Given the description of an element on the screen output the (x, y) to click on. 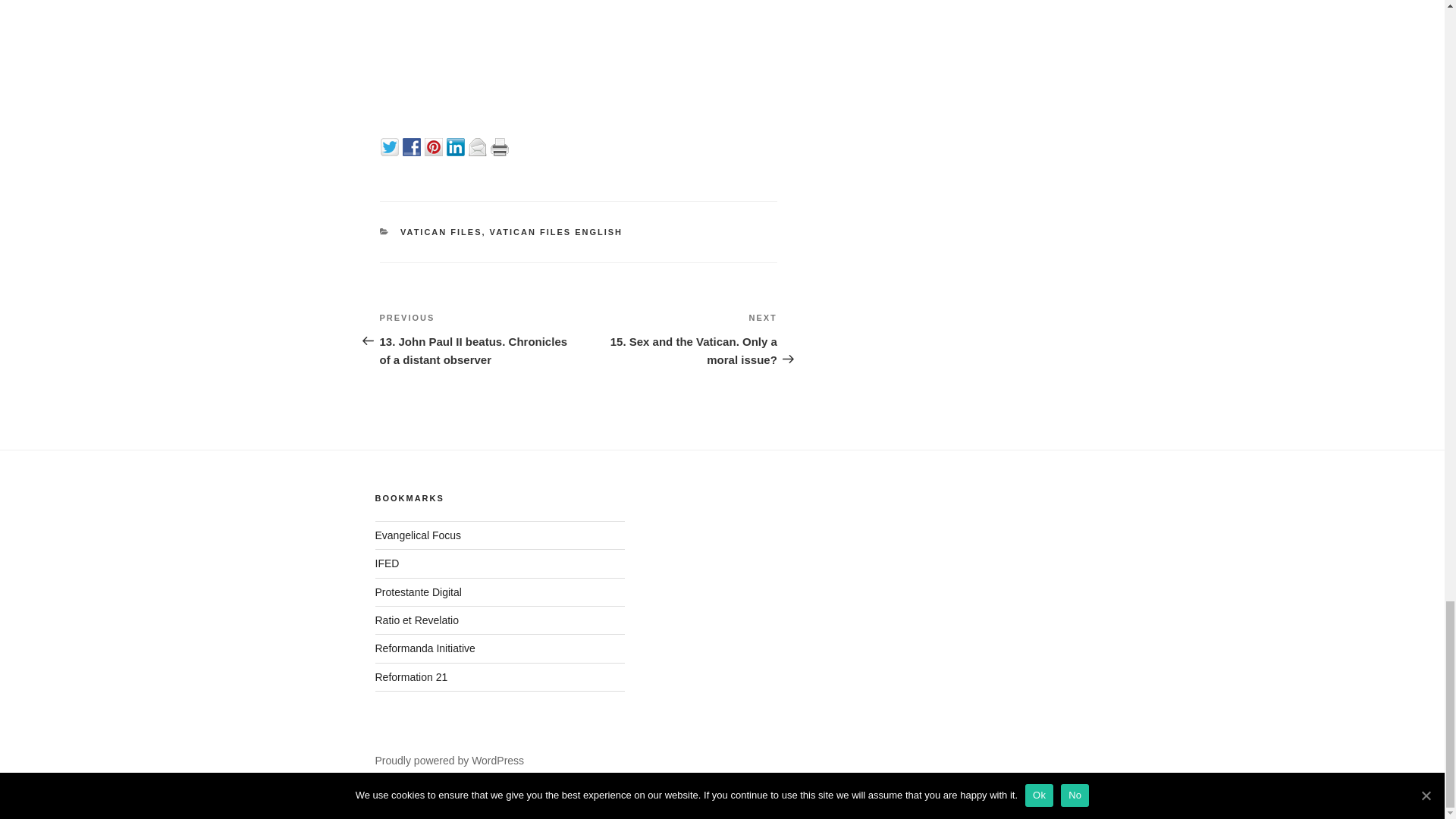
Print (677, 339)
VATICAN FILES (500, 145)
Twitter (440, 231)
Pinterest (391, 145)
Facebook (435, 145)
VATICAN FILES ENGLISH (412, 145)
Linkedin (556, 231)
Email (456, 145)
